Given the description of an element on the screen output the (x, y) to click on. 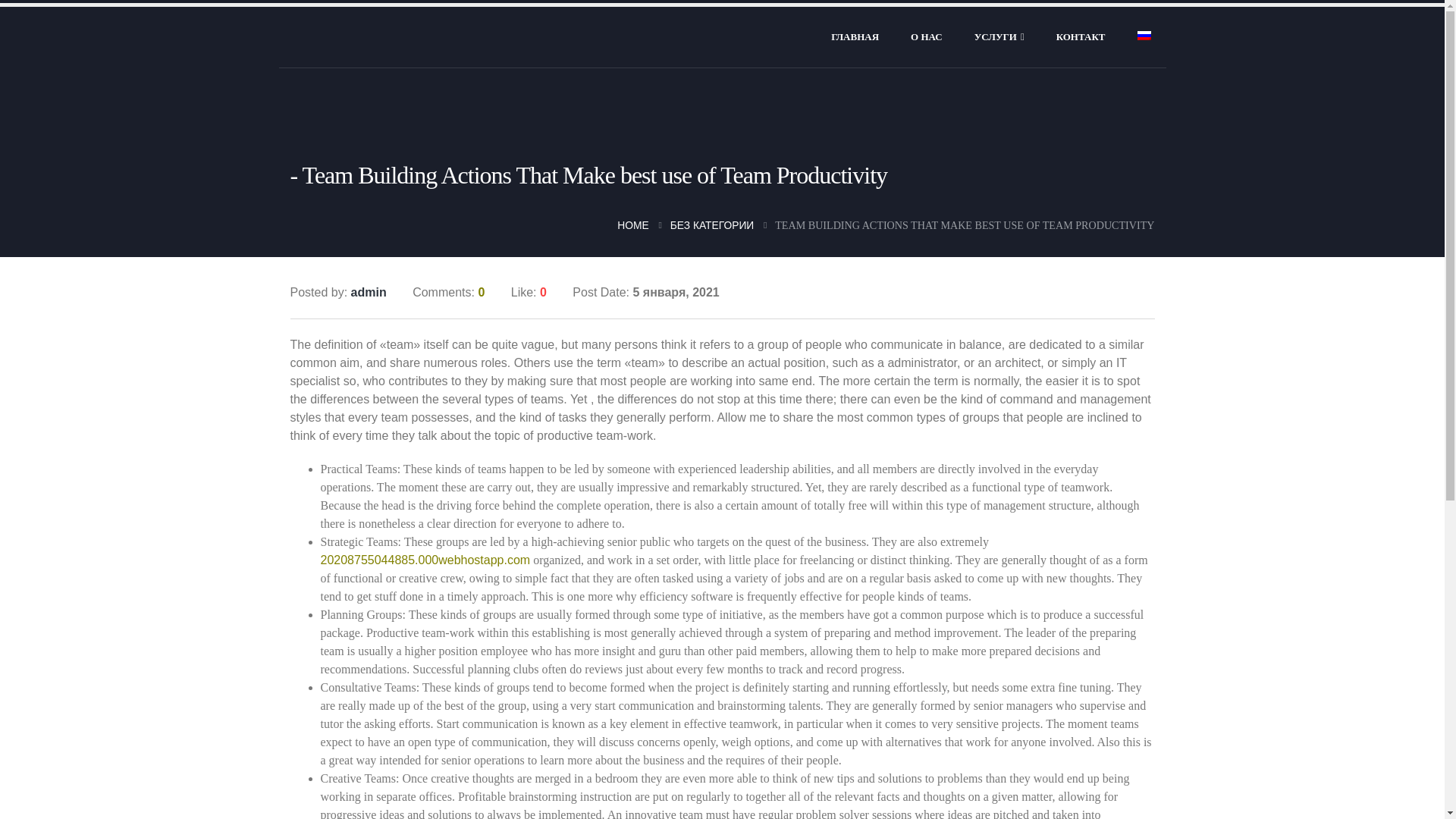
Go to Home Page (632, 225)
20208755044885.000webhostapp.com (424, 559)
HOME (632, 225)
